Given the description of an element on the screen output the (x, y) to click on. 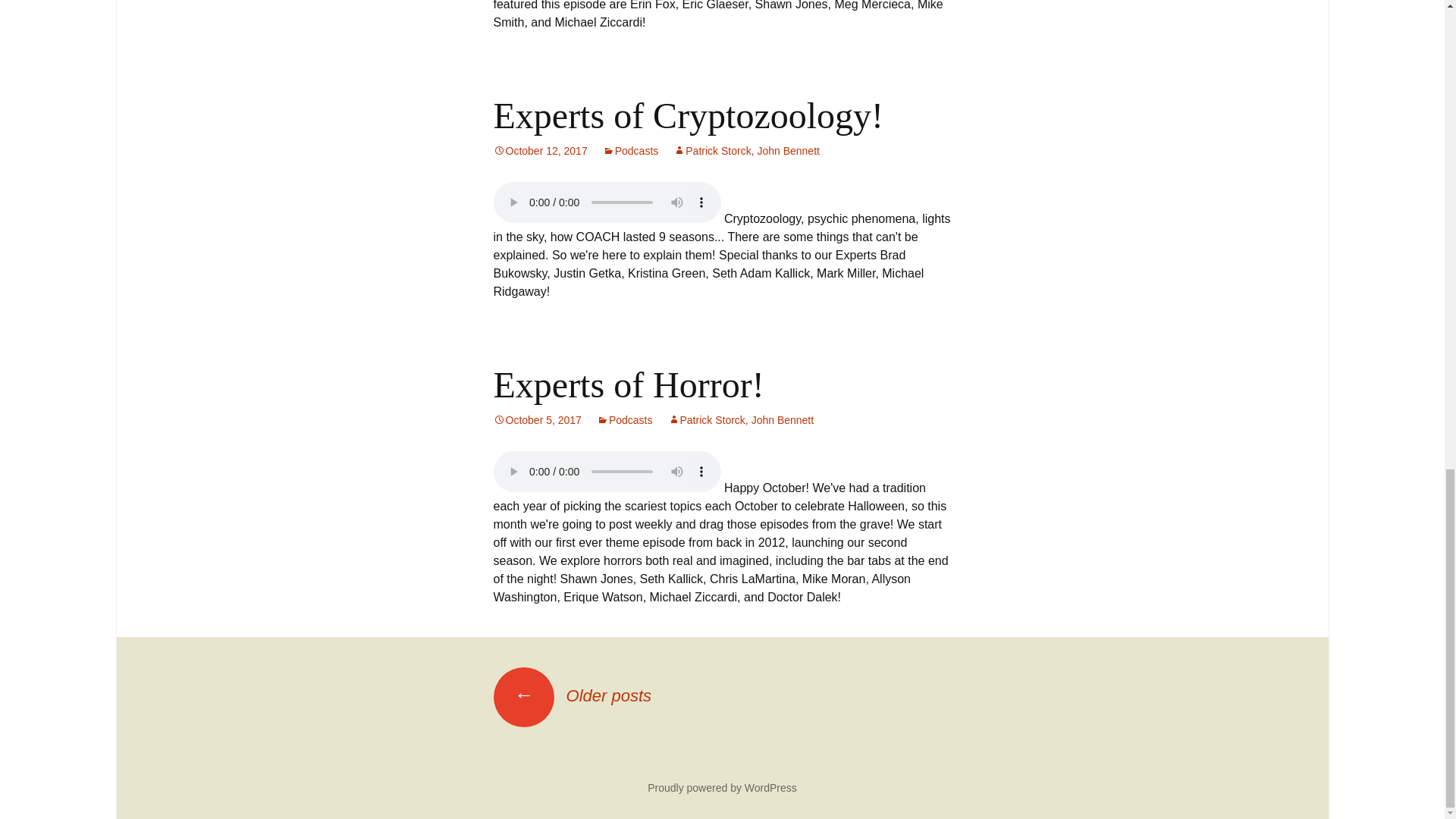
Experts of Cryptozoology! (688, 115)
View all posts by Patrick Storck, John Bennett (739, 419)
Permalink to Experts of Cryptozoology! (539, 150)
View all posts by Patrick Storck, John Bennett (745, 150)
Podcasts (624, 419)
Proudly powered by WordPress (721, 787)
October 5, 2017 (536, 419)
October 12, 2017 (539, 150)
Experts of Horror! (627, 384)
Podcasts (630, 150)
